Given the description of an element on the screen output the (x, y) to click on. 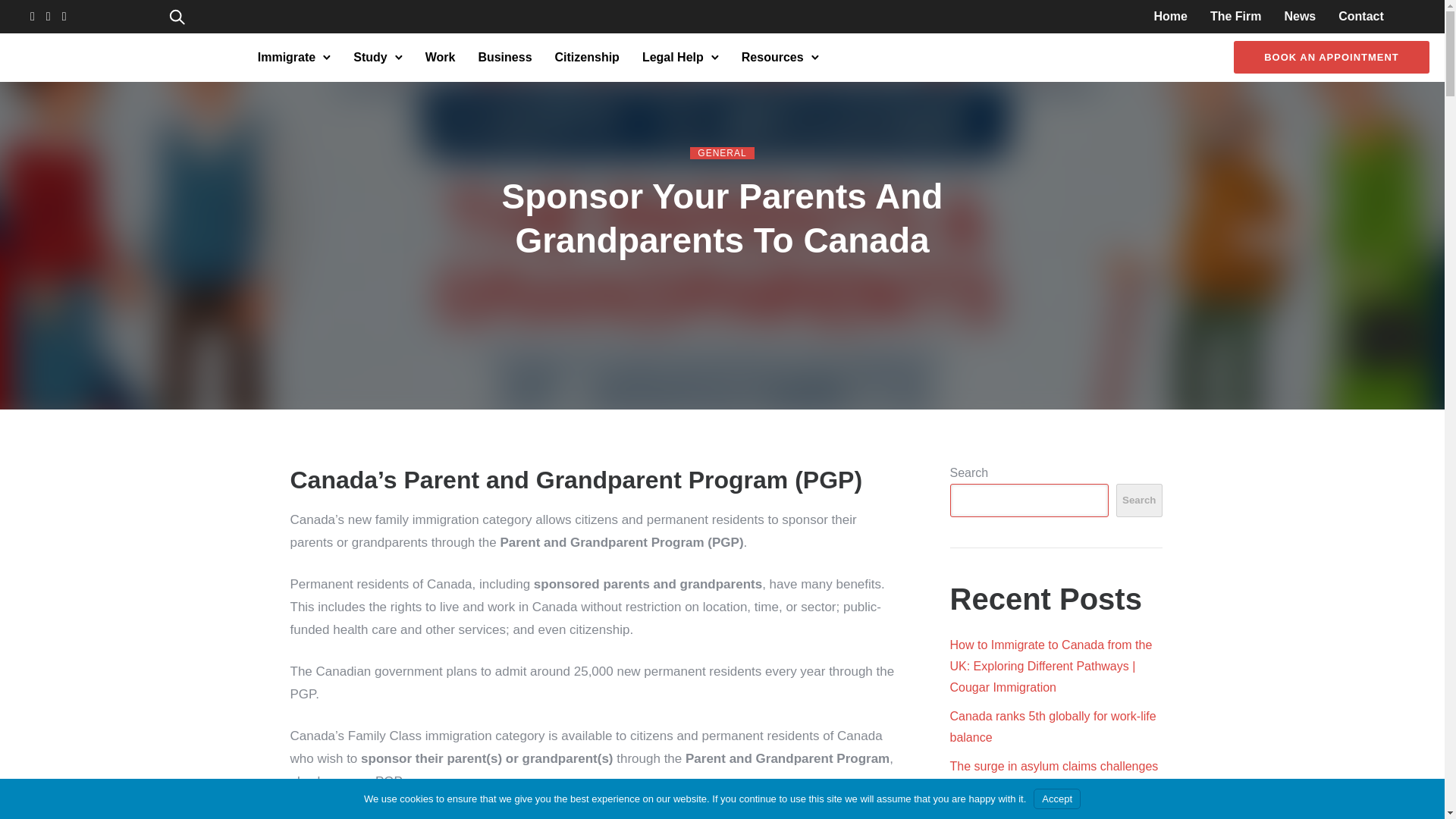
Work (440, 56)
The Firm (1235, 16)
News (1299, 16)
Immigrate (286, 56)
Business (504, 56)
Contact (1360, 16)
Home (1169, 16)
Immigrate (286, 56)
Study (370, 56)
The Firm (1235, 16)
